Given the description of an element on the screen output the (x, y) to click on. 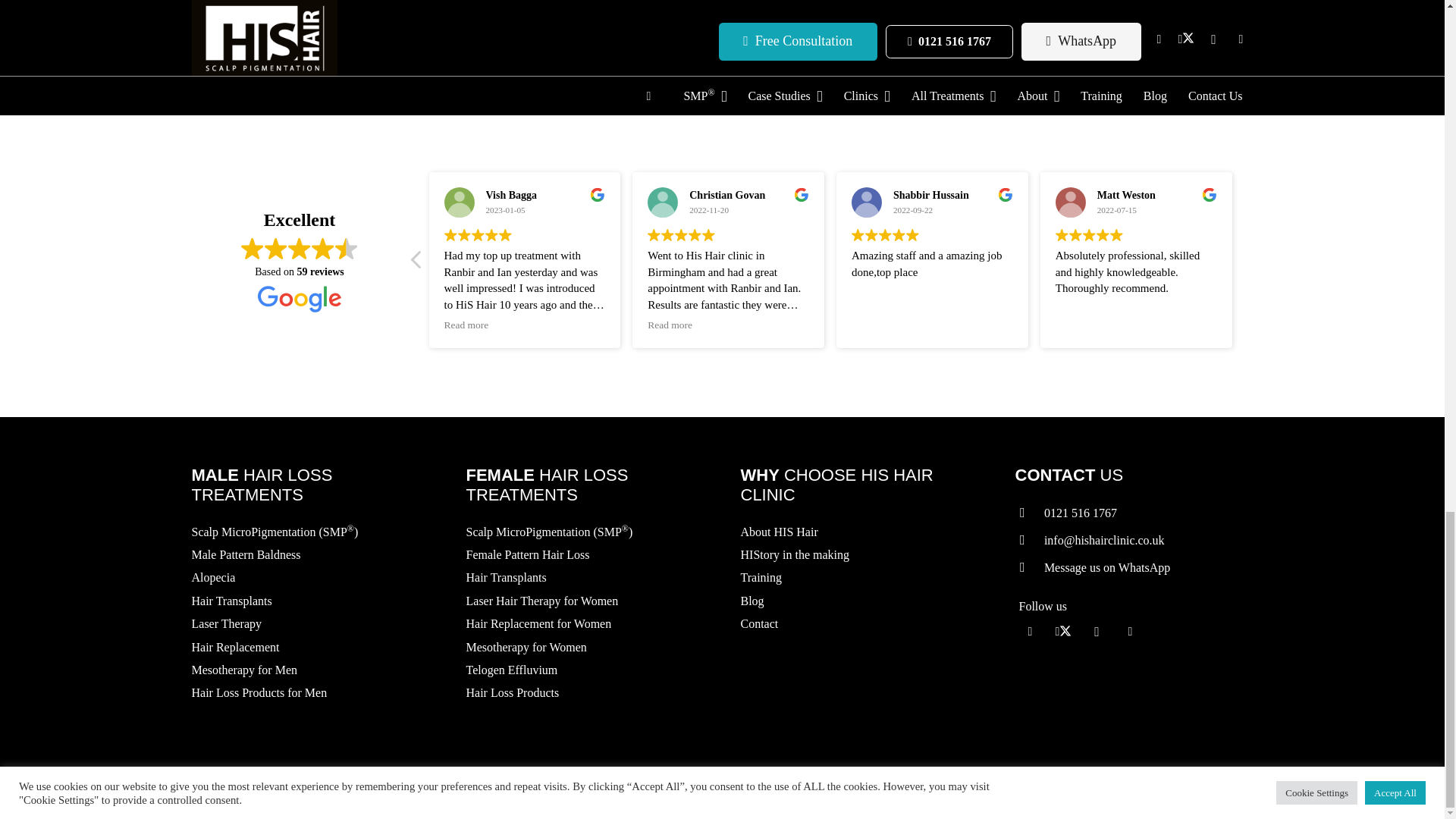
Email this (208, 2)
Share this (245, 2)
Successful Bald Men (712, 49)
Tweet this (281, 2)
Share this (392, 2)
Pin this (355, 2)
Share this (319, 2)
